Given the description of an element on the screen output the (x, y) to click on. 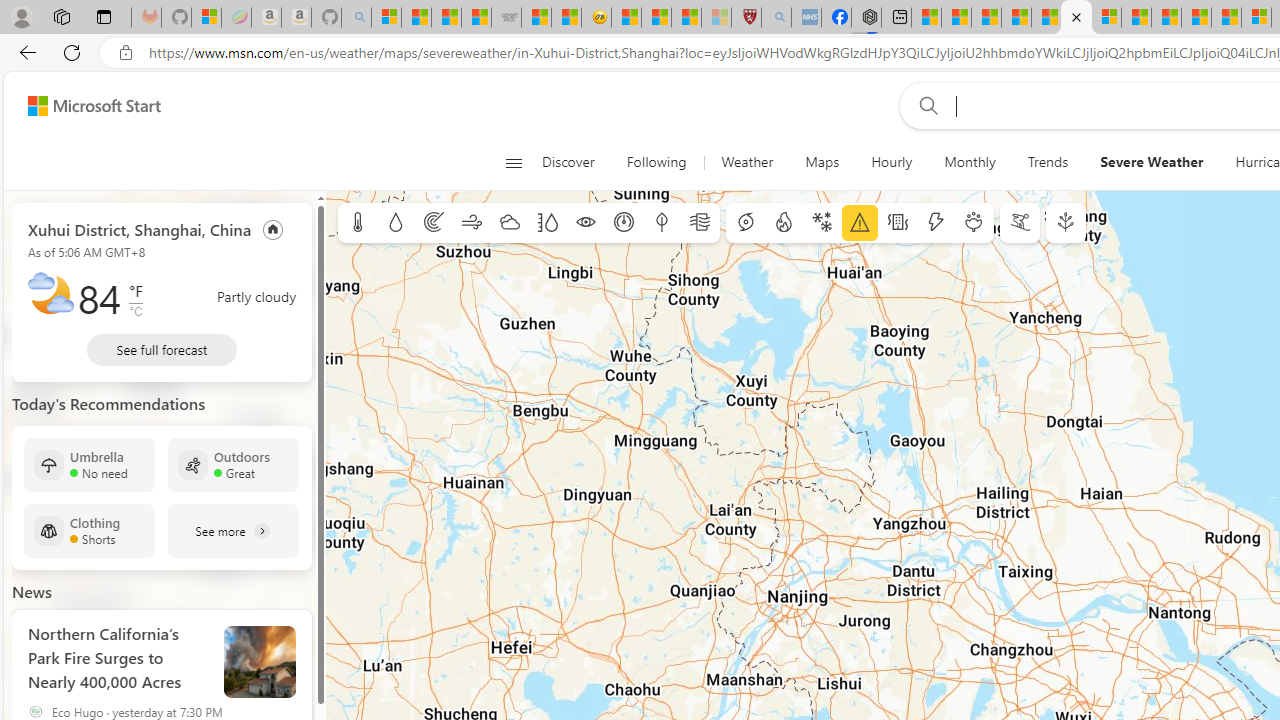
Trends (1048, 162)
Monthly (969, 162)
Set as primary location (273, 228)
E-tree (1066, 223)
See full forecast (161, 349)
Severe Weather (1151, 162)
